Given the description of an element on the screen output the (x, y) to click on. 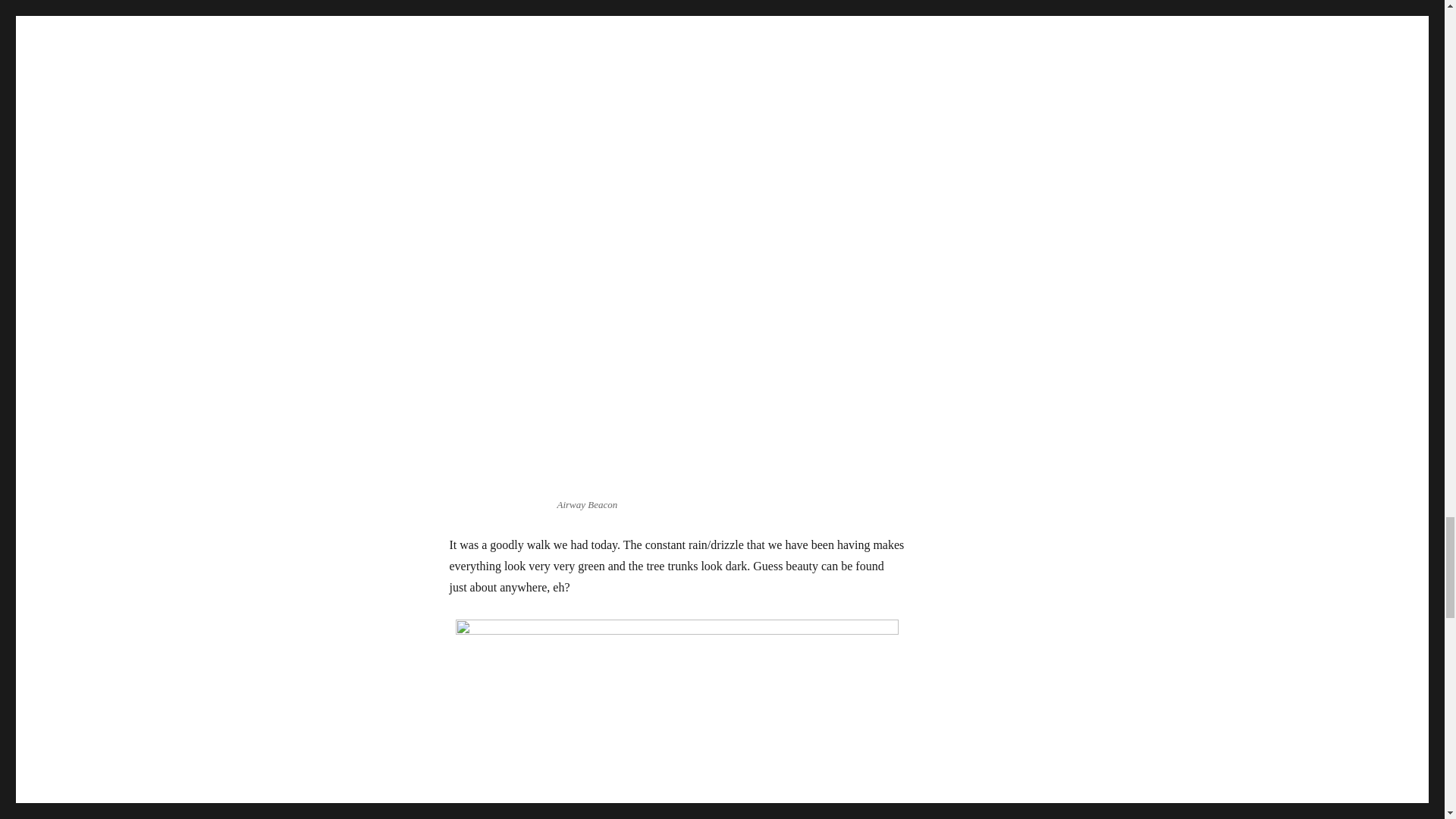
Trees in Mounds Park (676, 719)
